Given the description of an element on the screen output the (x, y) to click on. 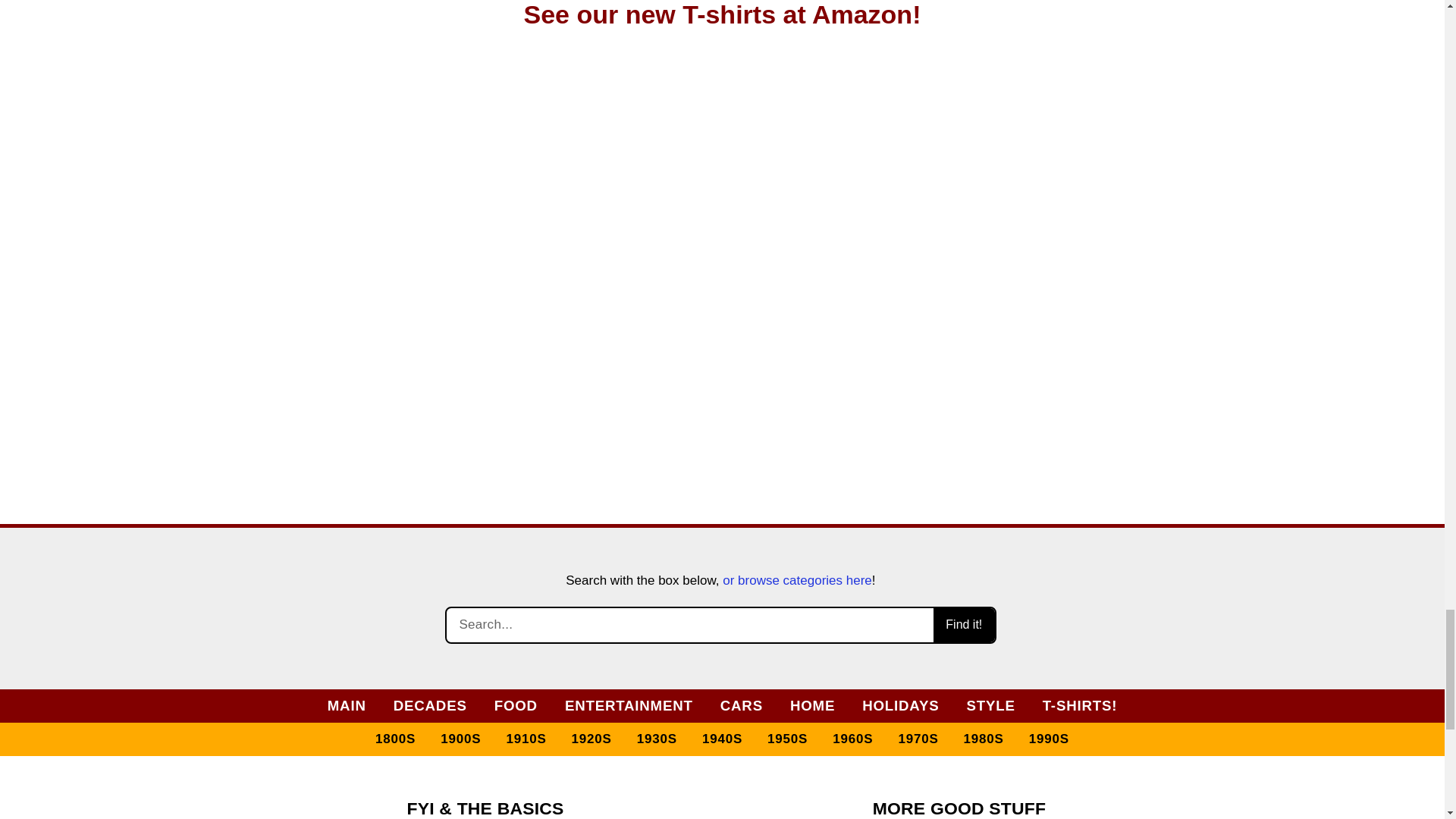
Vintage-look ARIZONA sunset distressed look T-Shirt (1074, 254)
Vintage-look HAWAII sunset distressed look T-Shirt (839, 254)
